Given the description of an element on the screen output the (x, y) to click on. 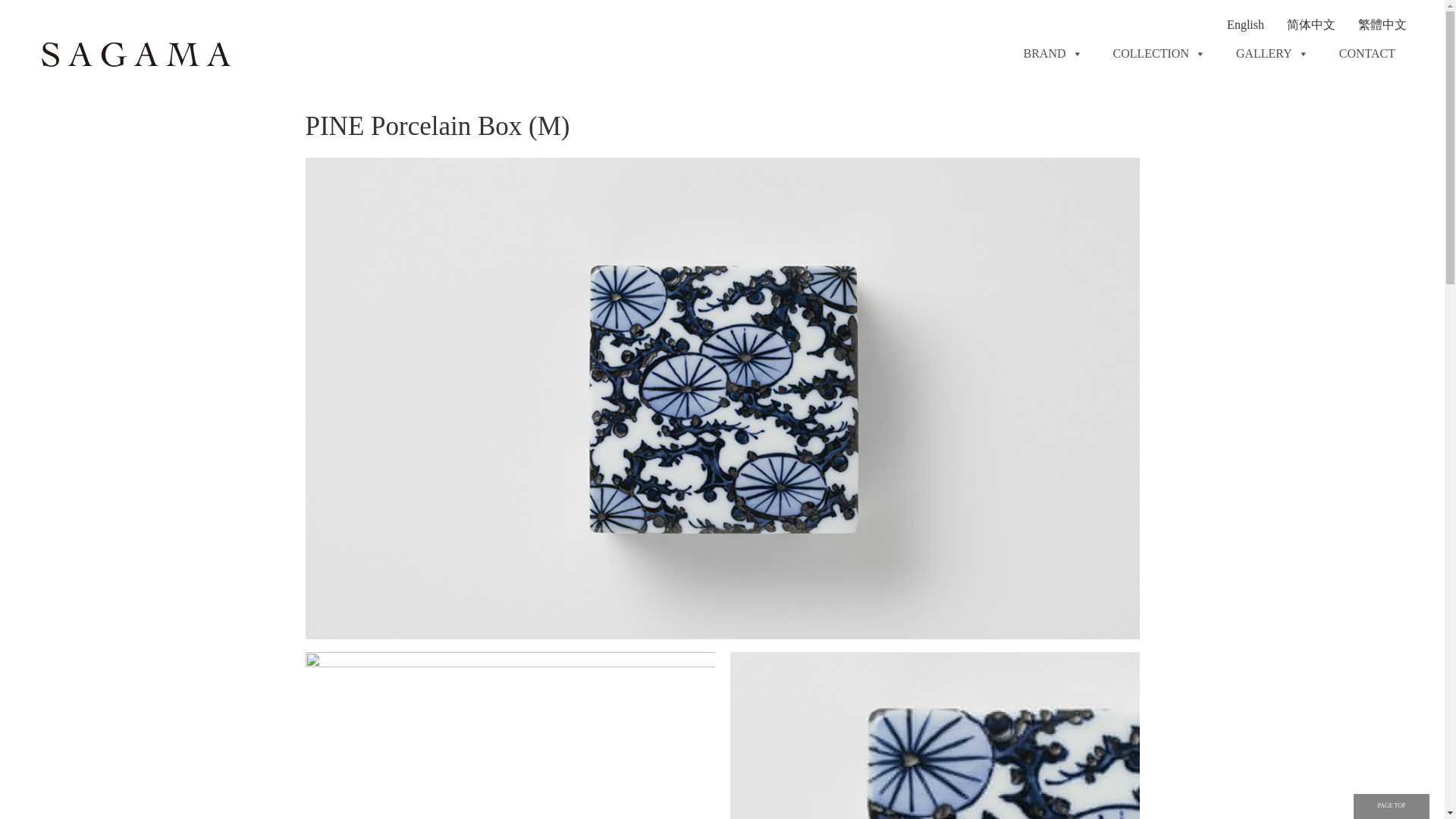
English (1245, 24)
COLLECTION (1157, 53)
PAGE TOP (1391, 806)
CONTACT (1366, 53)
BRAND (1052, 53)
English (1245, 24)
GALLERY (1272, 53)
